Given the description of an element on the screen output the (x, y) to click on. 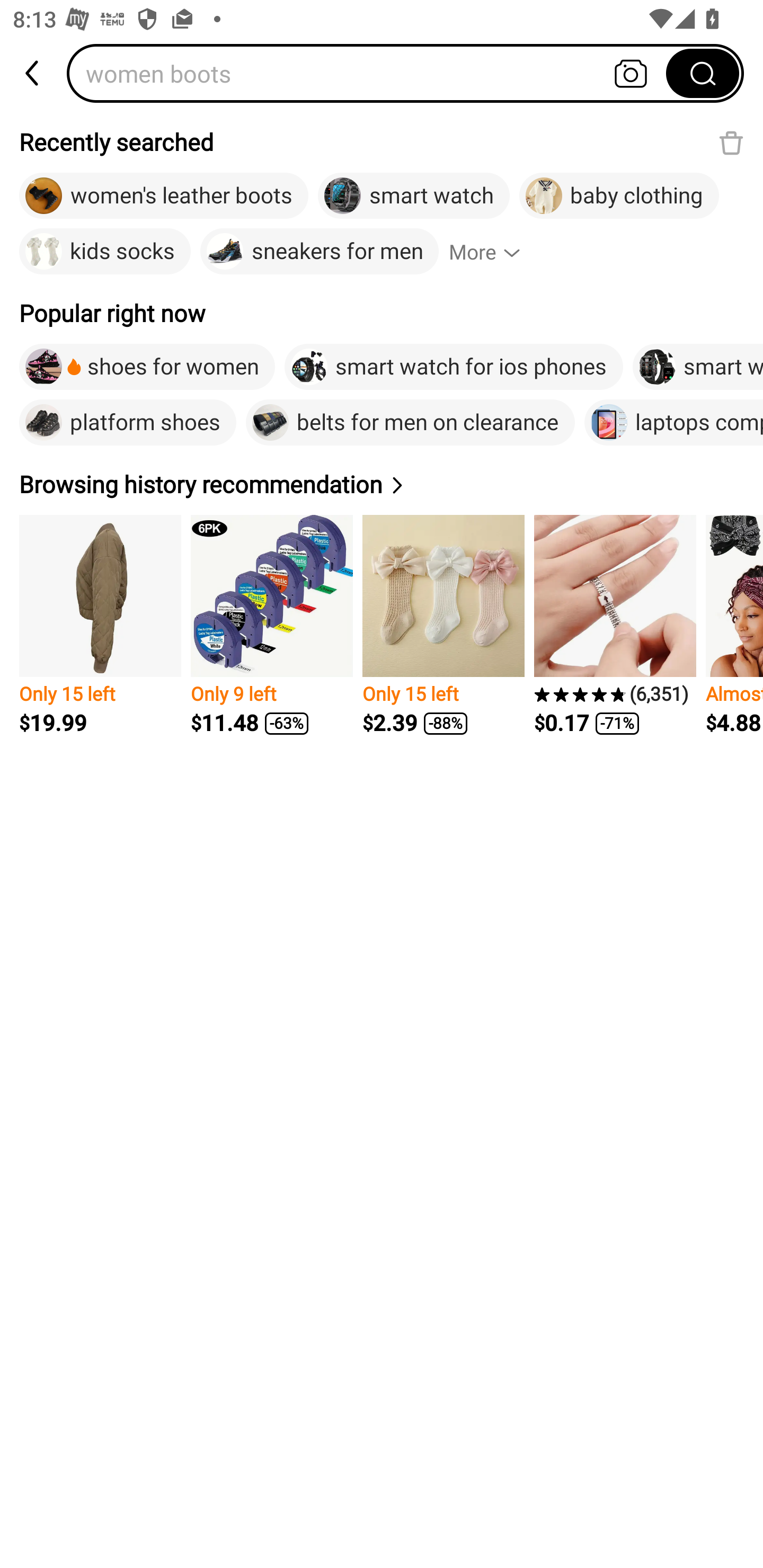
back (33, 72)
women boots (372, 73)
Search by photo (630, 73)
Delete recent search (731, 142)
women's leather boots (163, 195)
smart watch (413, 195)
baby clothing (618, 195)
kids socks (104, 251)
sneakers for men (318, 251)
More (492, 251)
shoes for women (146, 366)
smart watch for ios phones (453, 366)
smart watches for men (697, 366)
platform shoes (127, 422)
belts for men on clearance (409, 422)
laptops computers (673, 422)
Browsing history recommendation (213, 484)
Only 15 left $19.99 (100, 625)
Only 9 left $11.48 -63% (271, 625)
Only 15 left $2.39 -88% (443, 625)
(6,351) $0.17 -71% (614, 625)
